Given the description of an element on the screen output the (x, y) to click on. 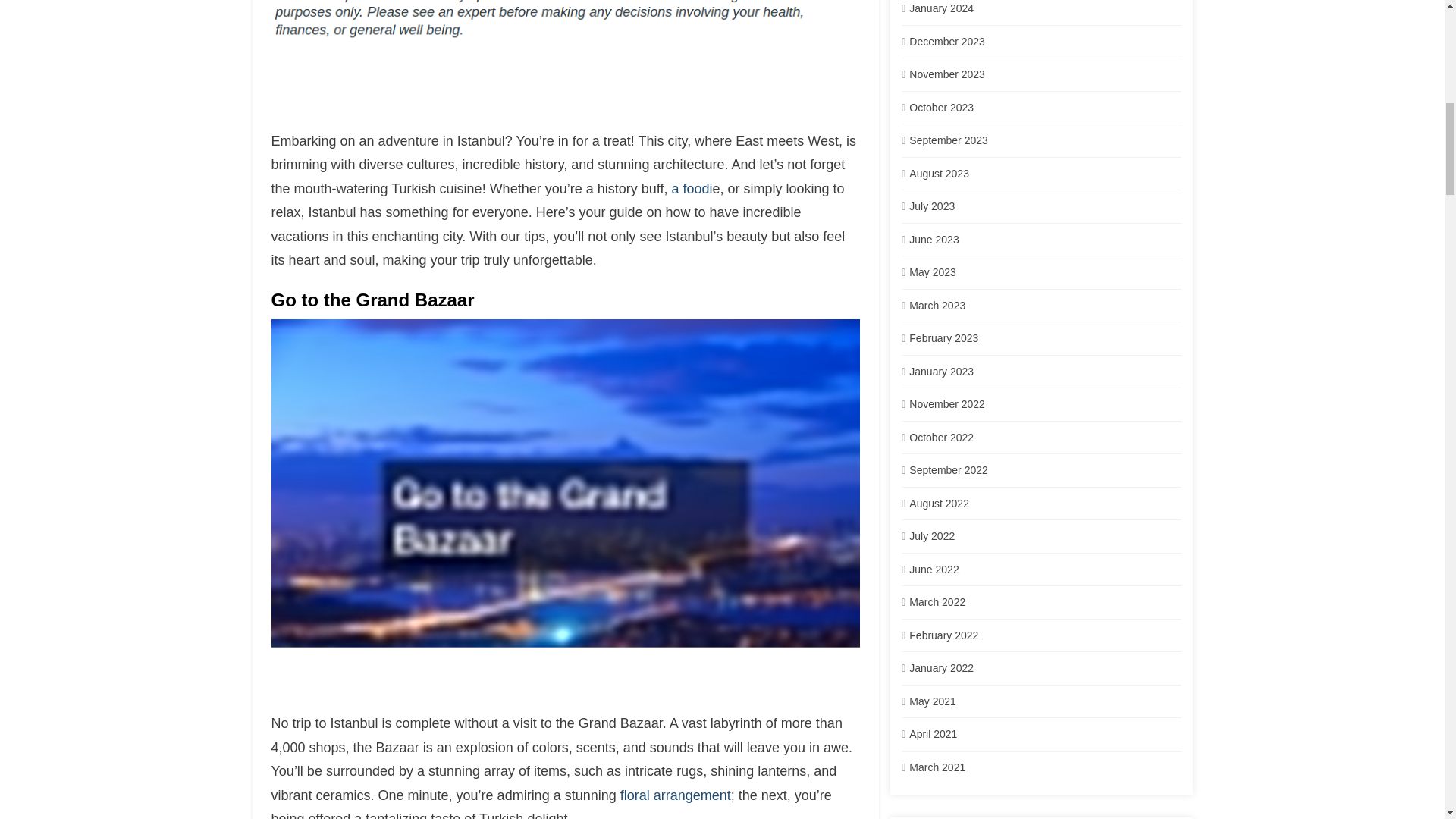
January 2024 (941, 8)
a foodi (691, 188)
December 2023 (946, 41)
November 2023 (946, 73)
October 2023 (941, 107)
floral arrangement (675, 795)
